Given the description of an element on the screen output the (x, y) to click on. 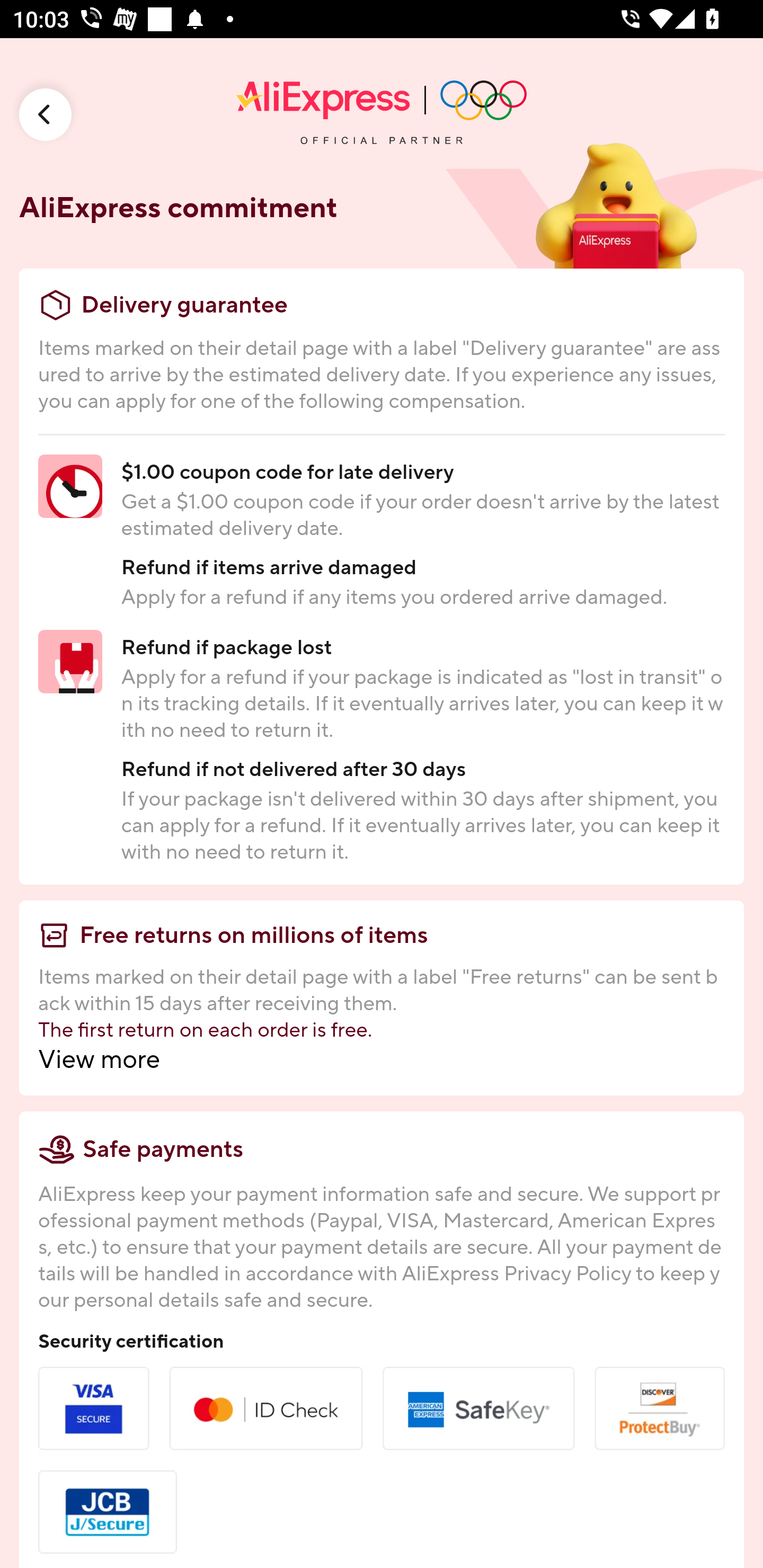
96x96 (45, 114)
View more (381, 1059)
